Given the description of an element on the screen output the (x, y) to click on. 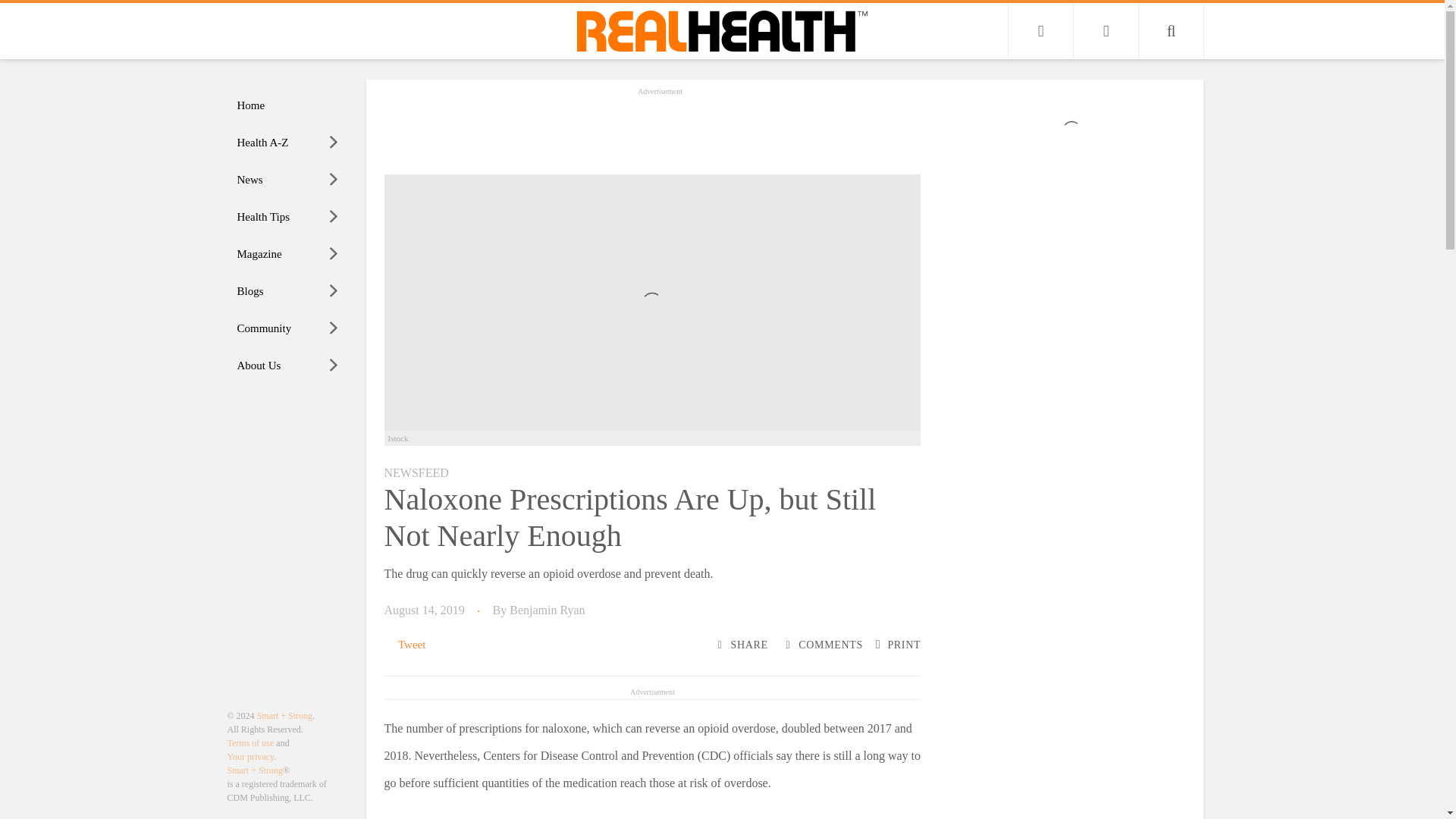
Health A-Z (288, 142)
Home (288, 105)
Health Tips (288, 217)
News (288, 180)
